Given the description of an element on the screen output the (x, y) to click on. 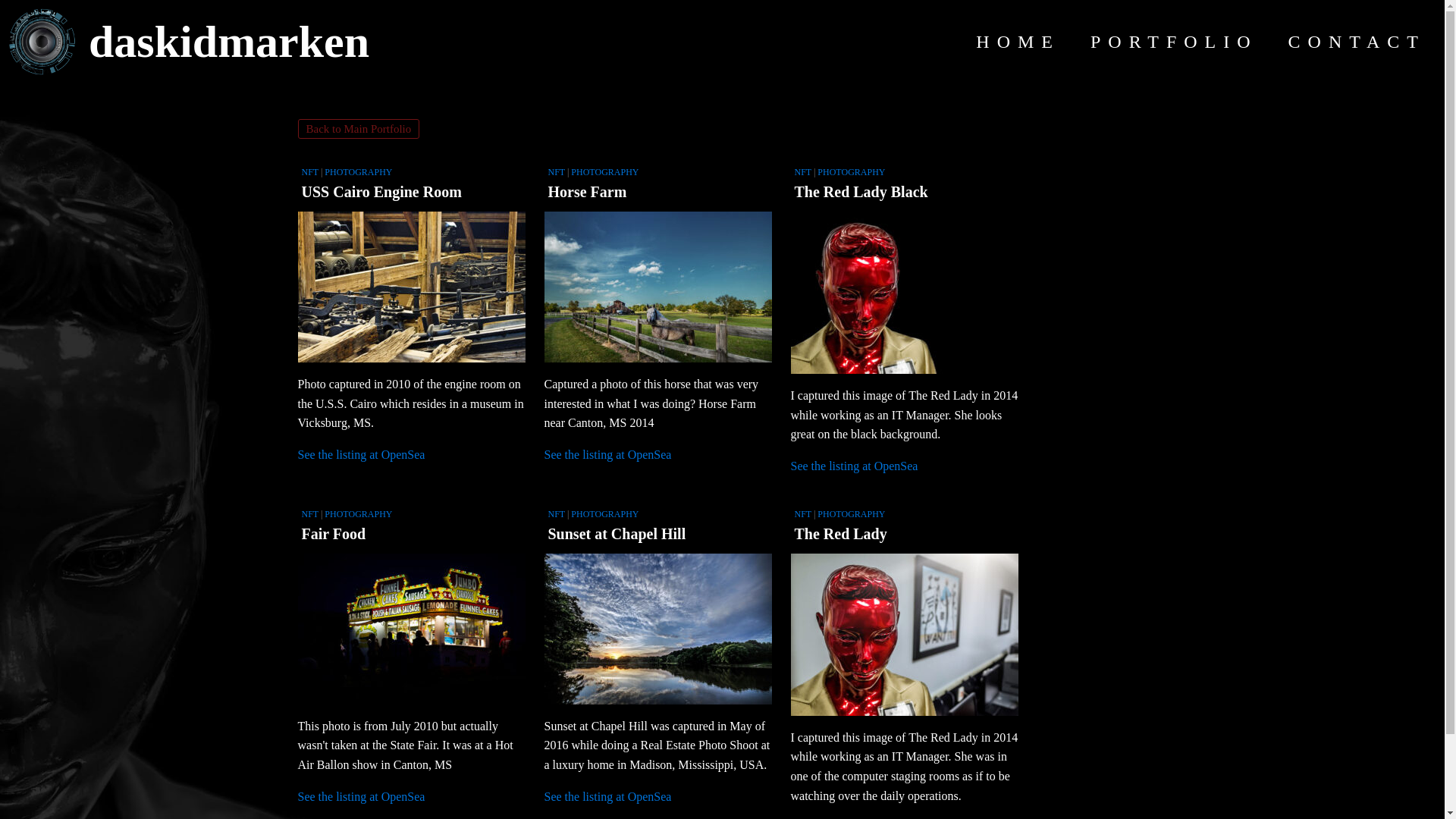
NFT (555, 172)
See the listing at OpenSea (607, 454)
NFT (555, 513)
PHOTOGRAPHY (850, 172)
See the listing at OpenSea (607, 796)
CONTACT (1356, 41)
HOME (1017, 41)
daskidmarken (224, 40)
PHOTOGRAPHY (357, 172)
NFT (309, 172)
